Given the description of an element on the screen output the (x, y) to click on. 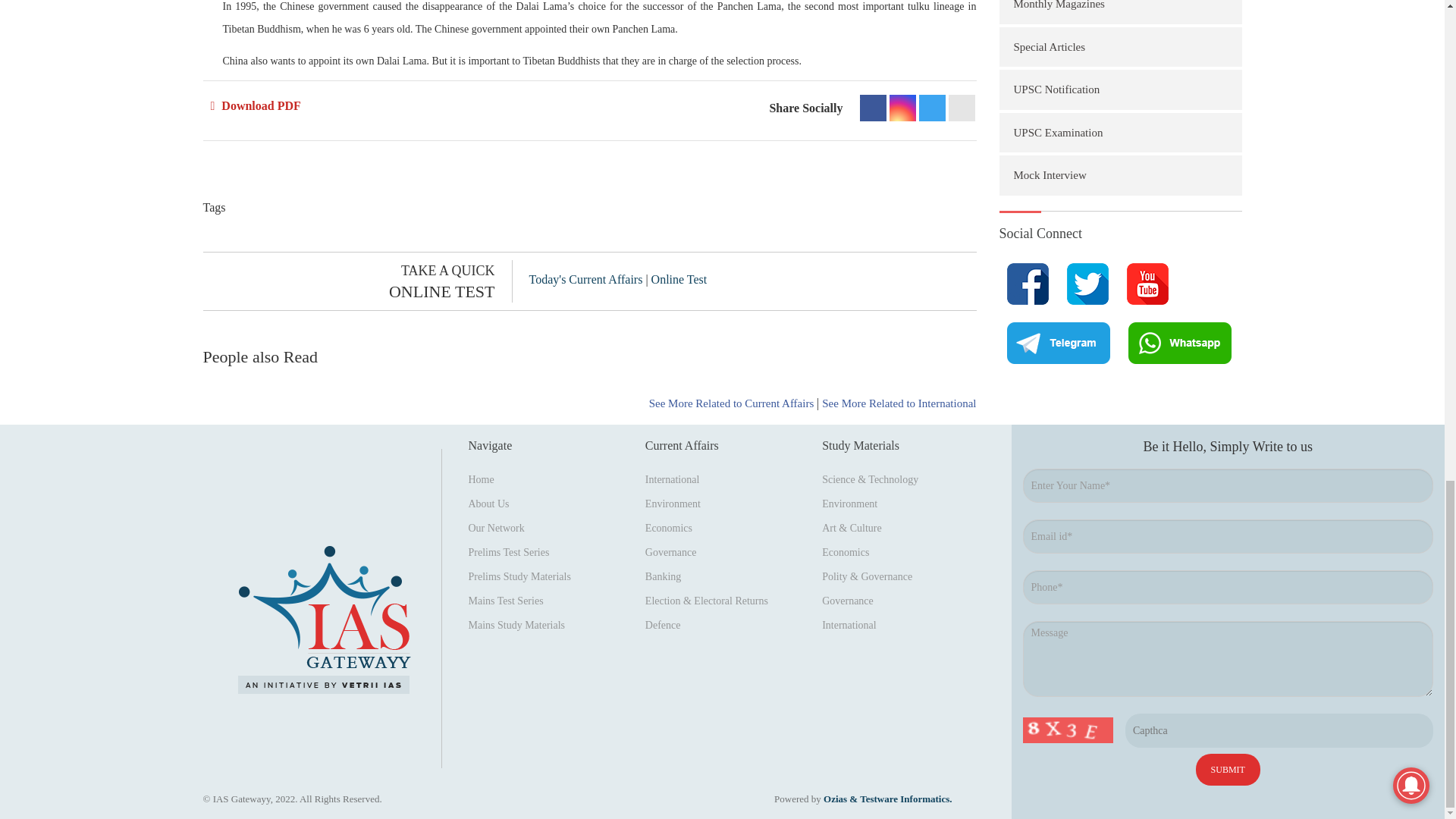
Telegram (931, 108)
Instagram (901, 108)
Facebook (873, 108)
Google Gmail (960, 108)
Submit (1227, 769)
